Given the description of an element on the screen output the (x, y) to click on. 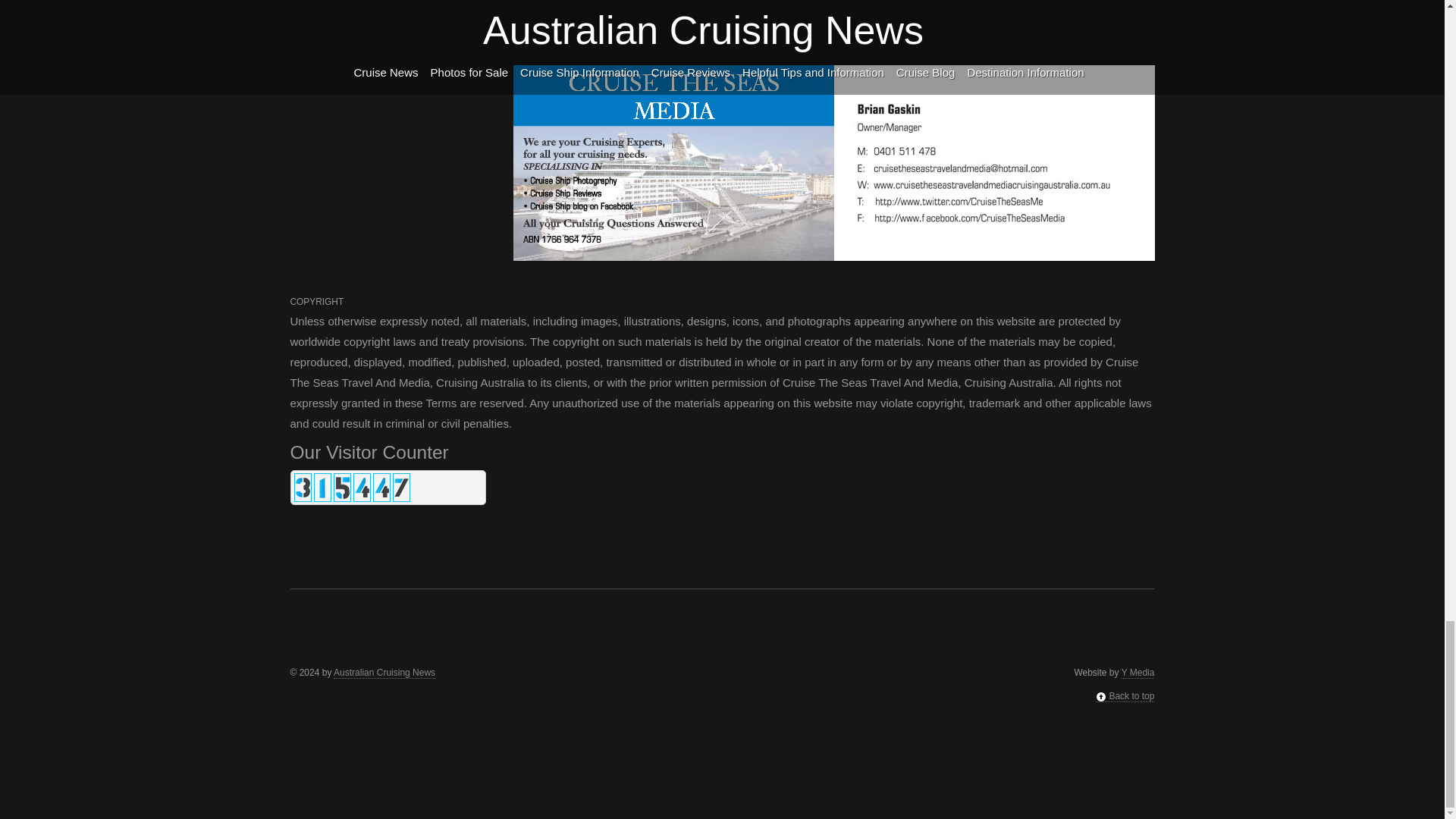
Australian Cruising News (384, 672)
Y Media (1137, 672)
Back to top (1125, 696)
Click here to visit Y Media (1137, 672)
